Given the description of an element on the screen output the (x, y) to click on. 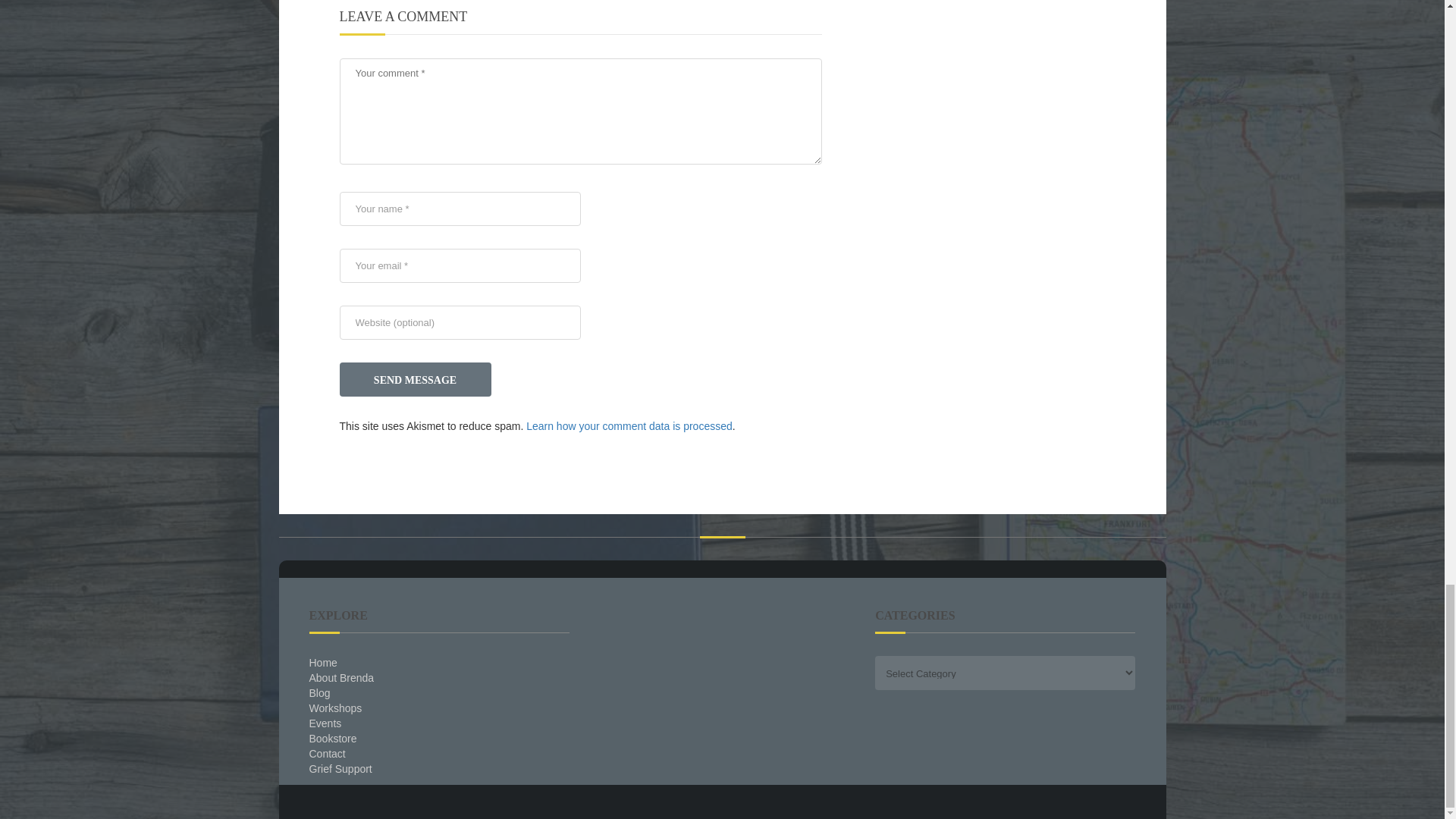
SEND MESSAGE (415, 379)
Learn how your comment data is processed (628, 426)
SEND MESSAGE (415, 379)
